Given the description of an element on the screen output the (x, y) to click on. 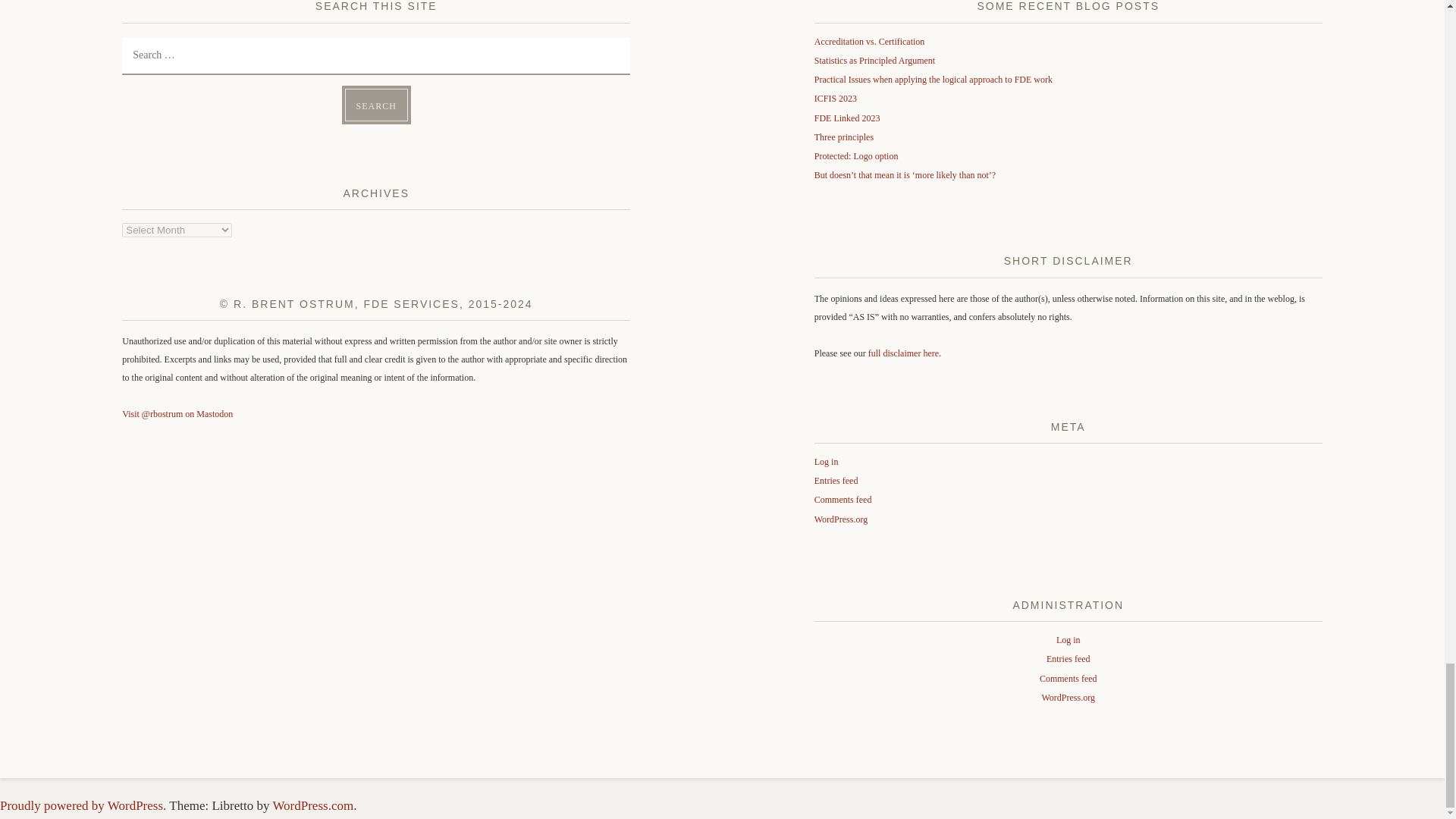
Search (376, 104)
Search (376, 104)
